Given the description of an element on the screen output the (x, y) to click on. 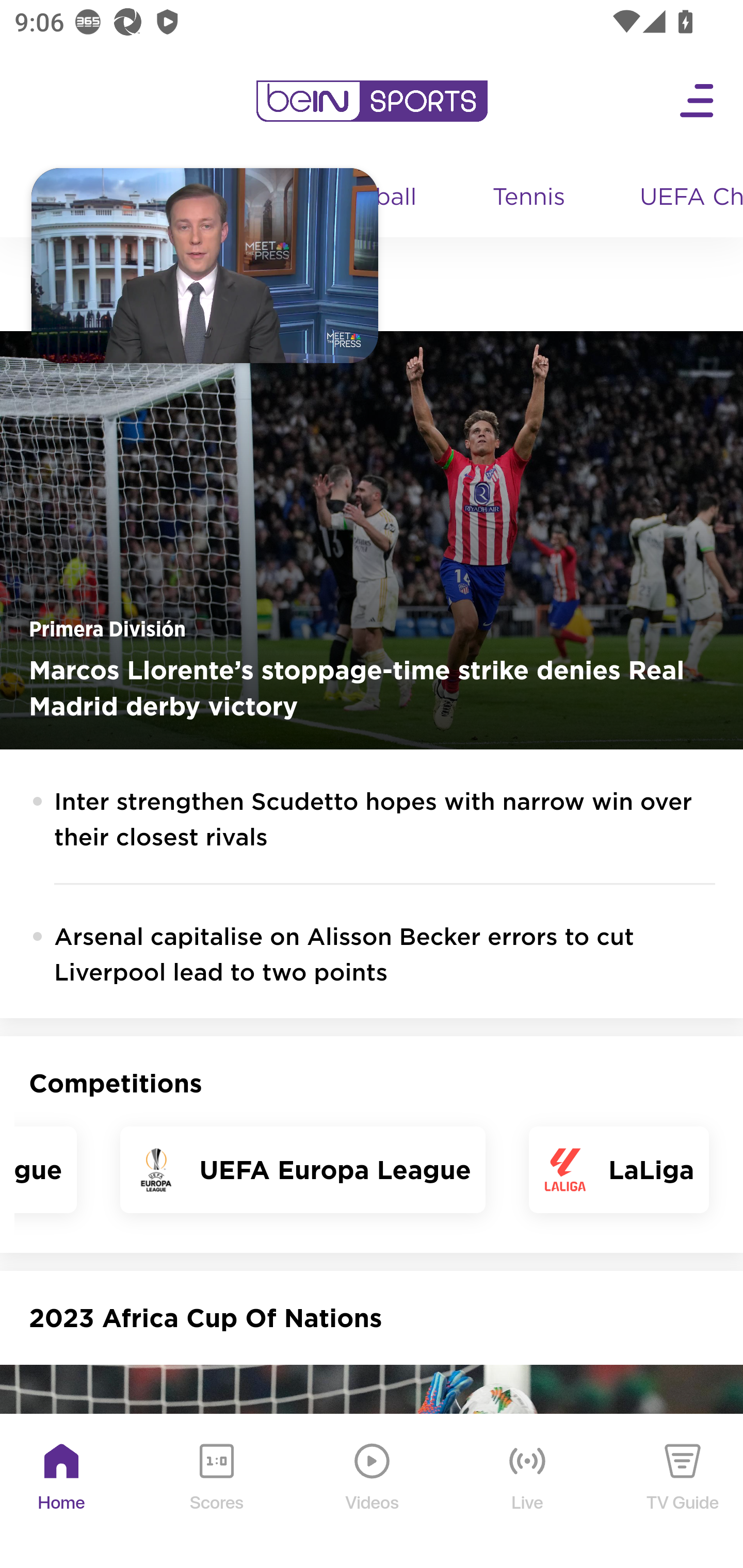
en-my?platform=mobile_android bein logo (371, 101)
Open Menu Icon (697, 101)
Tennis (530, 198)
UEFA Champions League (683, 198)
LaLiga LaLiga LaLiga (618, 1168)
Home Home Icon Home (61, 1491)
Scores Scores Icon Scores (216, 1491)
Videos Videos Icon Videos (372, 1491)
TV Guide TV Guide Icon TV Guide (682, 1491)
